Given the description of an element on the screen output the (x, y) to click on. 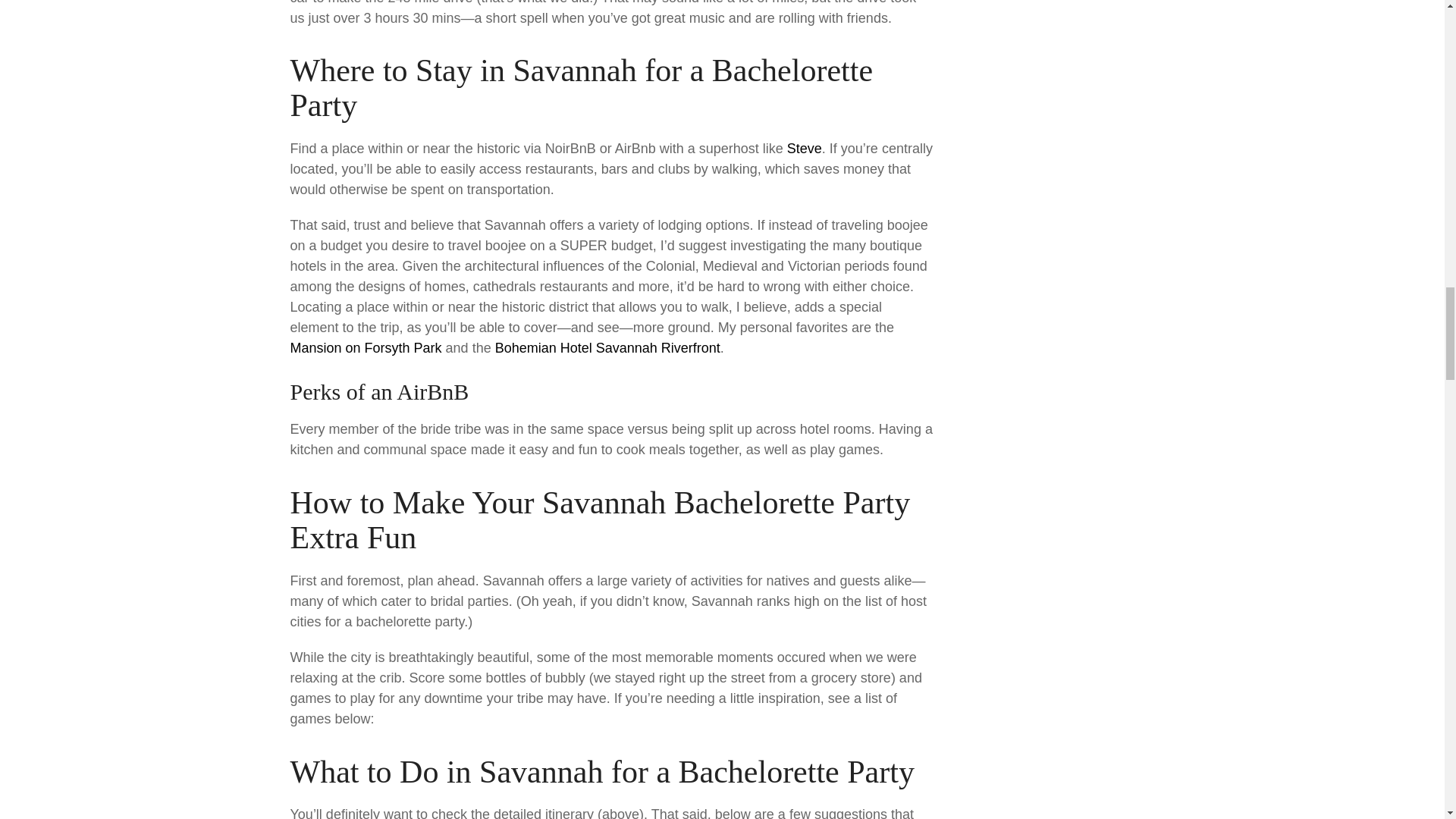
Mansion on Forsyth Park (365, 347)
Bohemian Hotel Savannah Riverfront (607, 347)
Steve (804, 148)
